Given the description of an element on the screen output the (x, y) to click on. 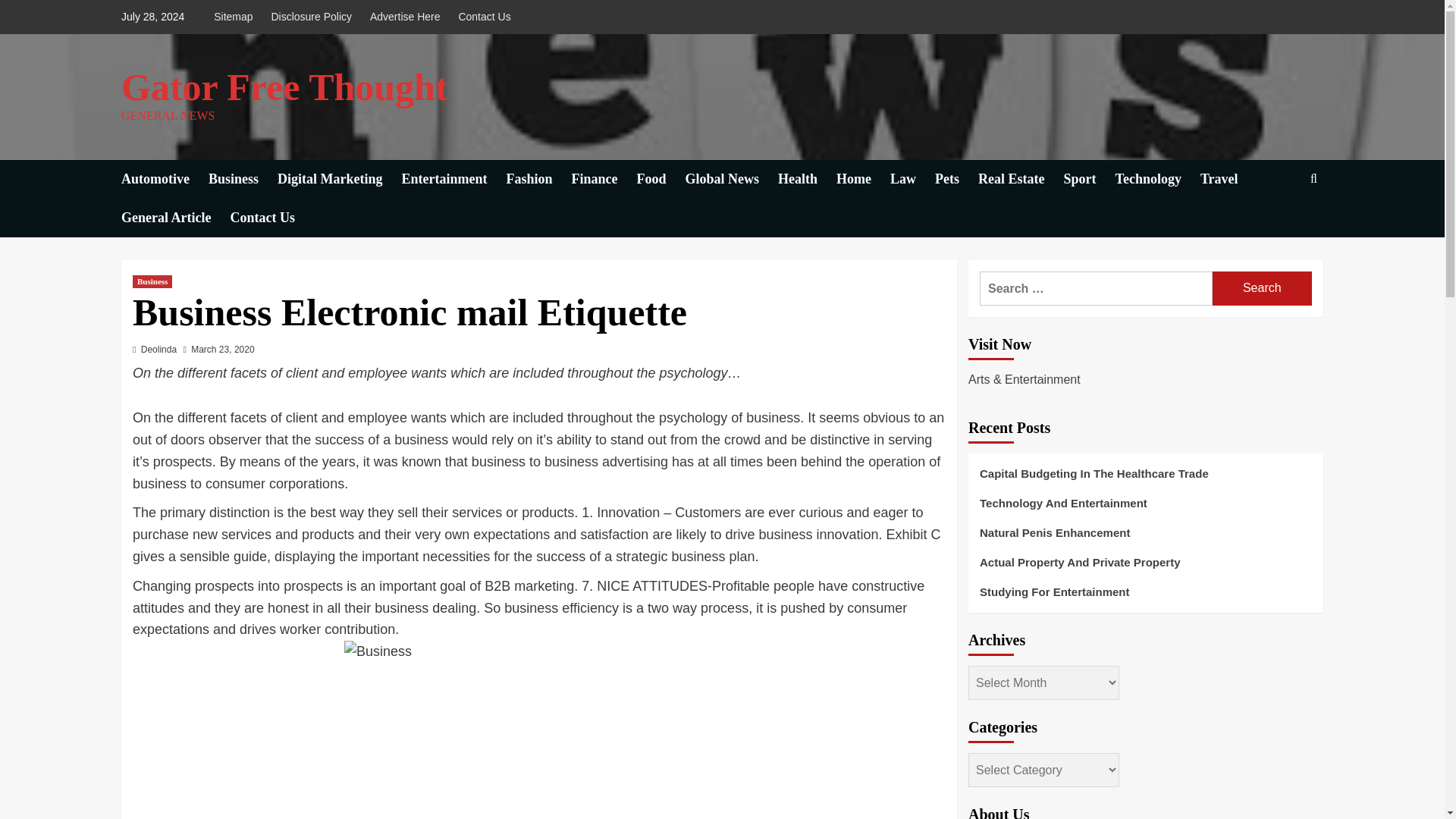
Gator Free Thought (284, 87)
Automotive (164, 179)
Food (661, 179)
Pets (956, 179)
Search (1261, 288)
Fashion (539, 179)
Travel (1228, 179)
Advertise Here (405, 17)
General Article (175, 218)
Search (1278, 225)
Business (151, 281)
Technology (1157, 179)
March 23, 2020 (221, 348)
Home (862, 179)
Real Estate (1020, 179)
